Given the description of an element on the screen output the (x, y) to click on. 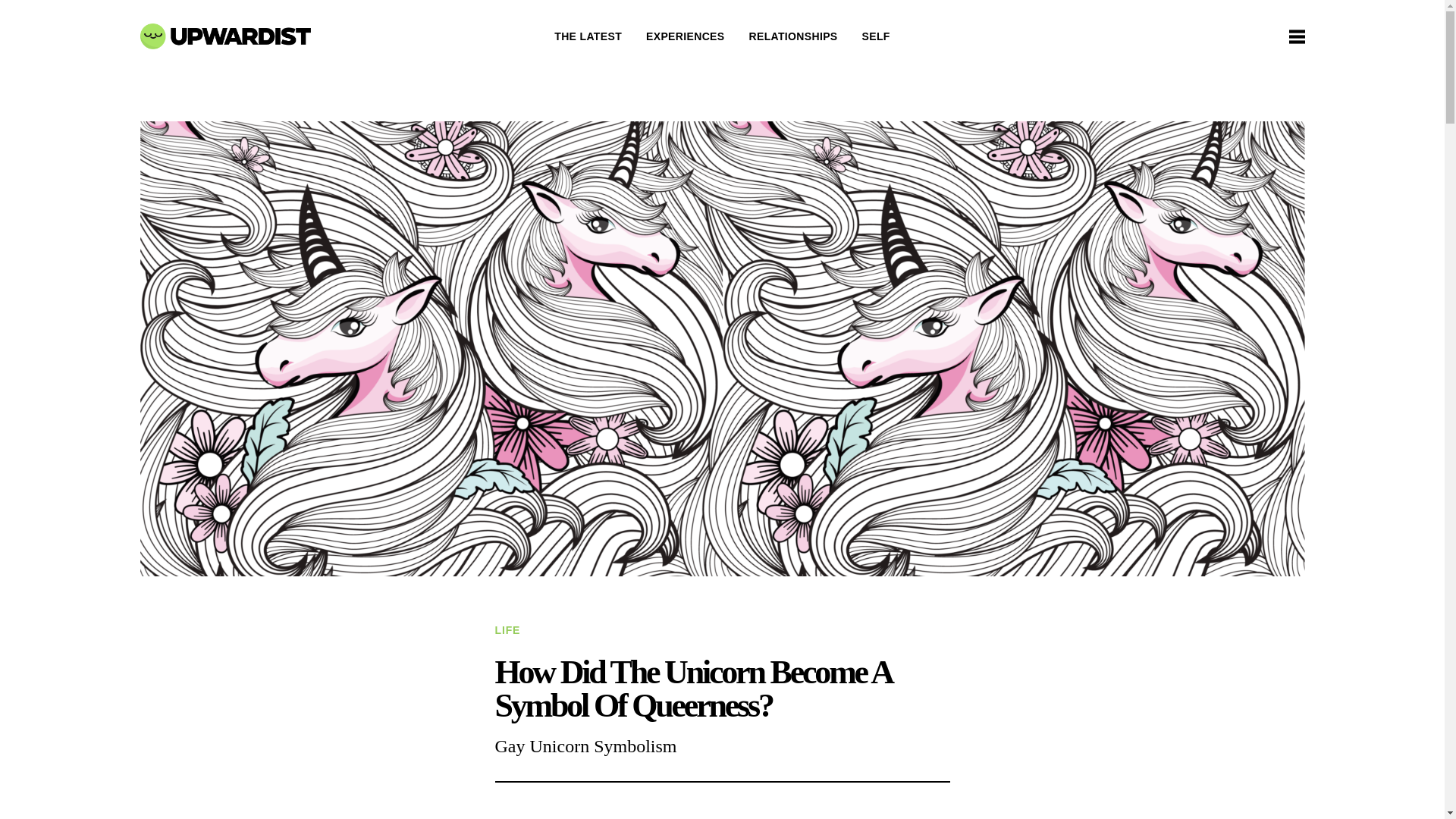
LIFE (507, 629)
THE LATEST (587, 36)
EXPERIENCES (684, 36)
RELATIONSHIPS (792, 36)
Upwardist (224, 35)
SELF (875, 36)
